Given the description of an element on the screen output the (x, y) to click on. 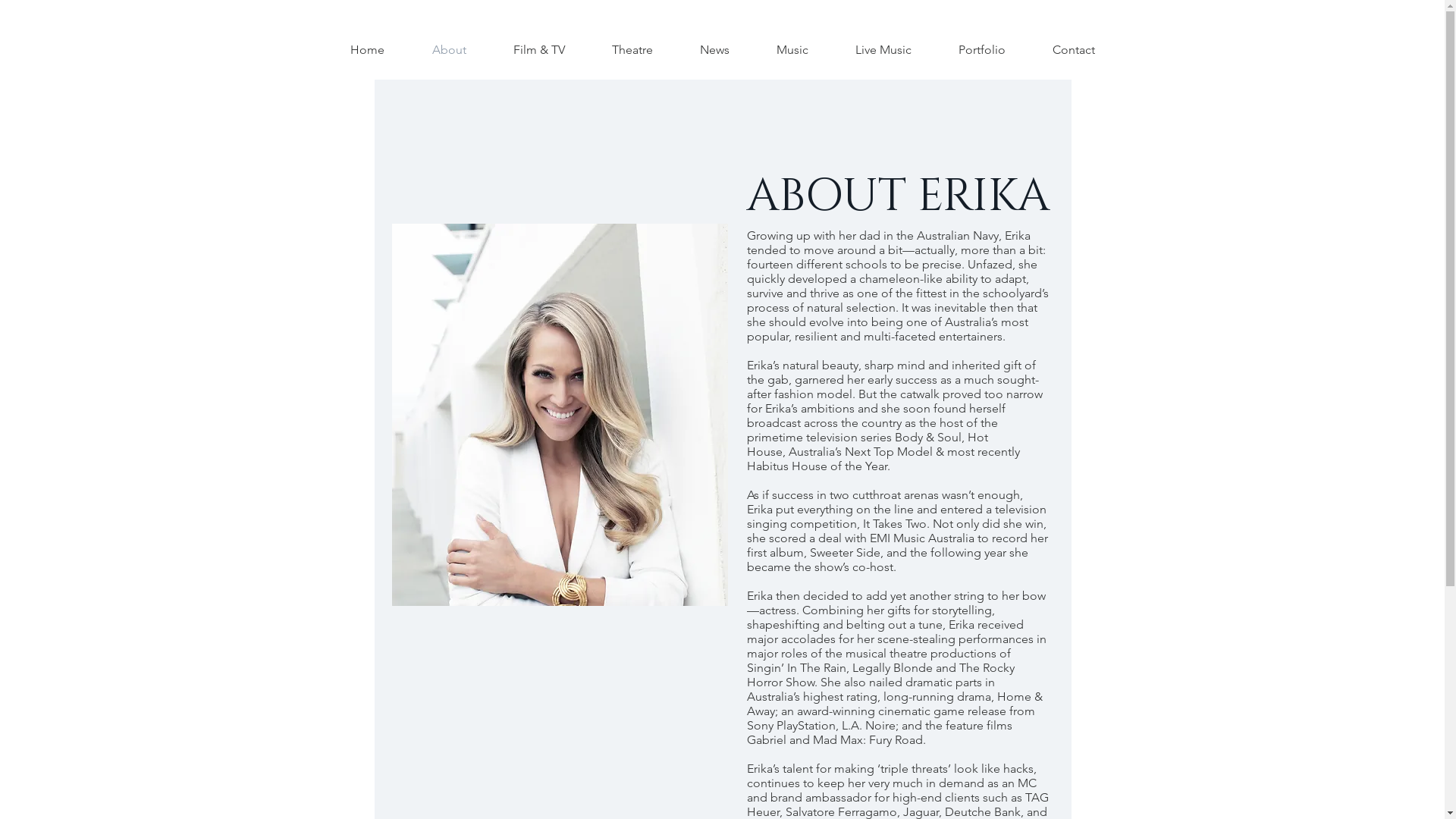
Contact Element type: text (1073, 49)
About Element type: text (448, 49)
Music Element type: text (792, 49)
News Element type: text (714, 49)
Portfolio Element type: text (982, 49)
Live Music Element type: text (883, 49)
Theatre Element type: text (632, 49)
Home Element type: text (366, 49)
Film & TV Element type: text (538, 49)
